Given the description of an element on the screen output the (x, y) to click on. 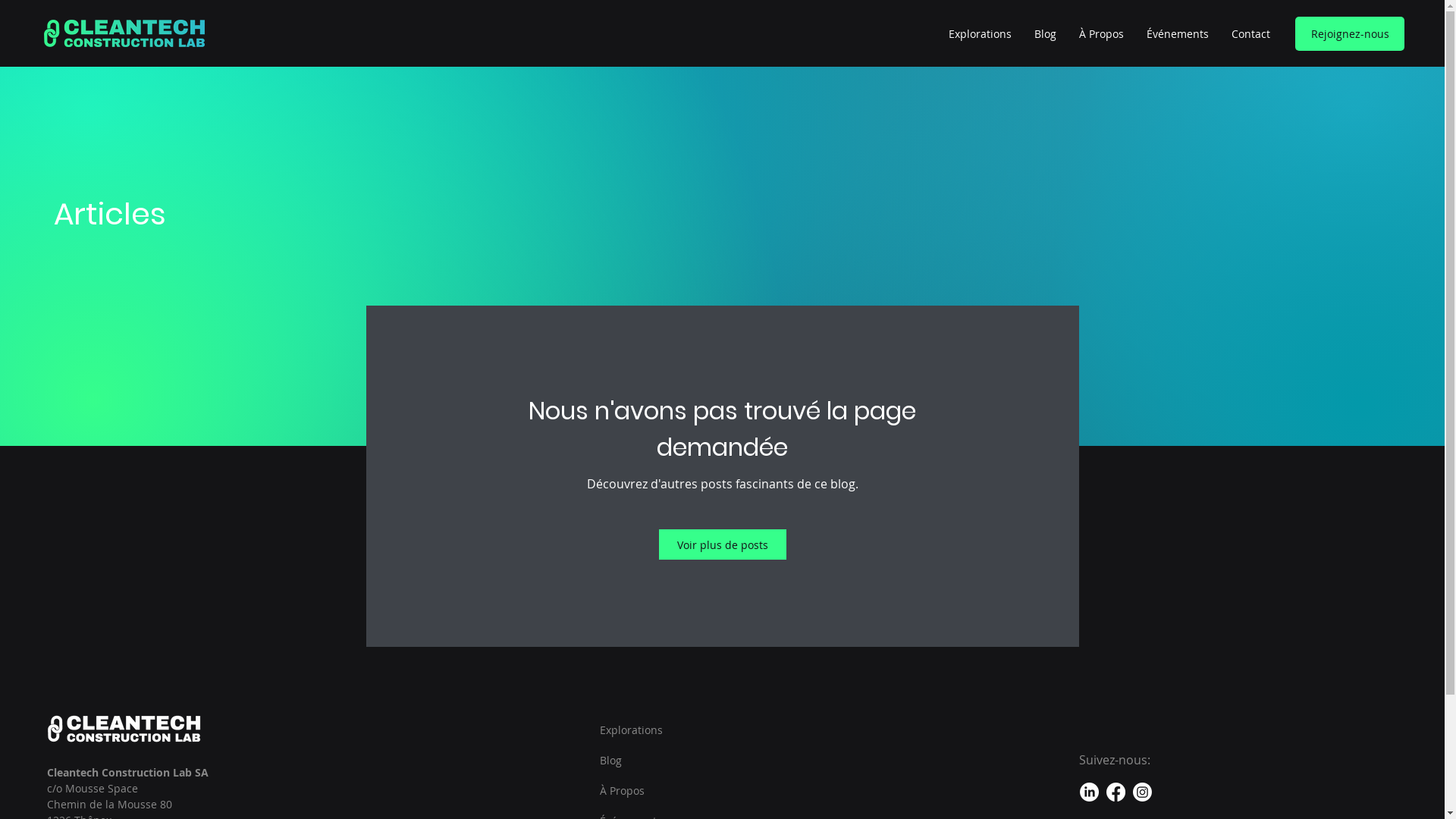
Voir plus de posts Element type: text (721, 544)
Explorations Element type: text (979, 34)
Contact Element type: text (1250, 34)
Blog Element type: text (1044, 34)
Blog Element type: text (638, 760)
Explorations Element type: text (638, 730)
Rejoignez-nous Element type: text (1349, 33)
